Given the description of an element on the screen output the (x, y) to click on. 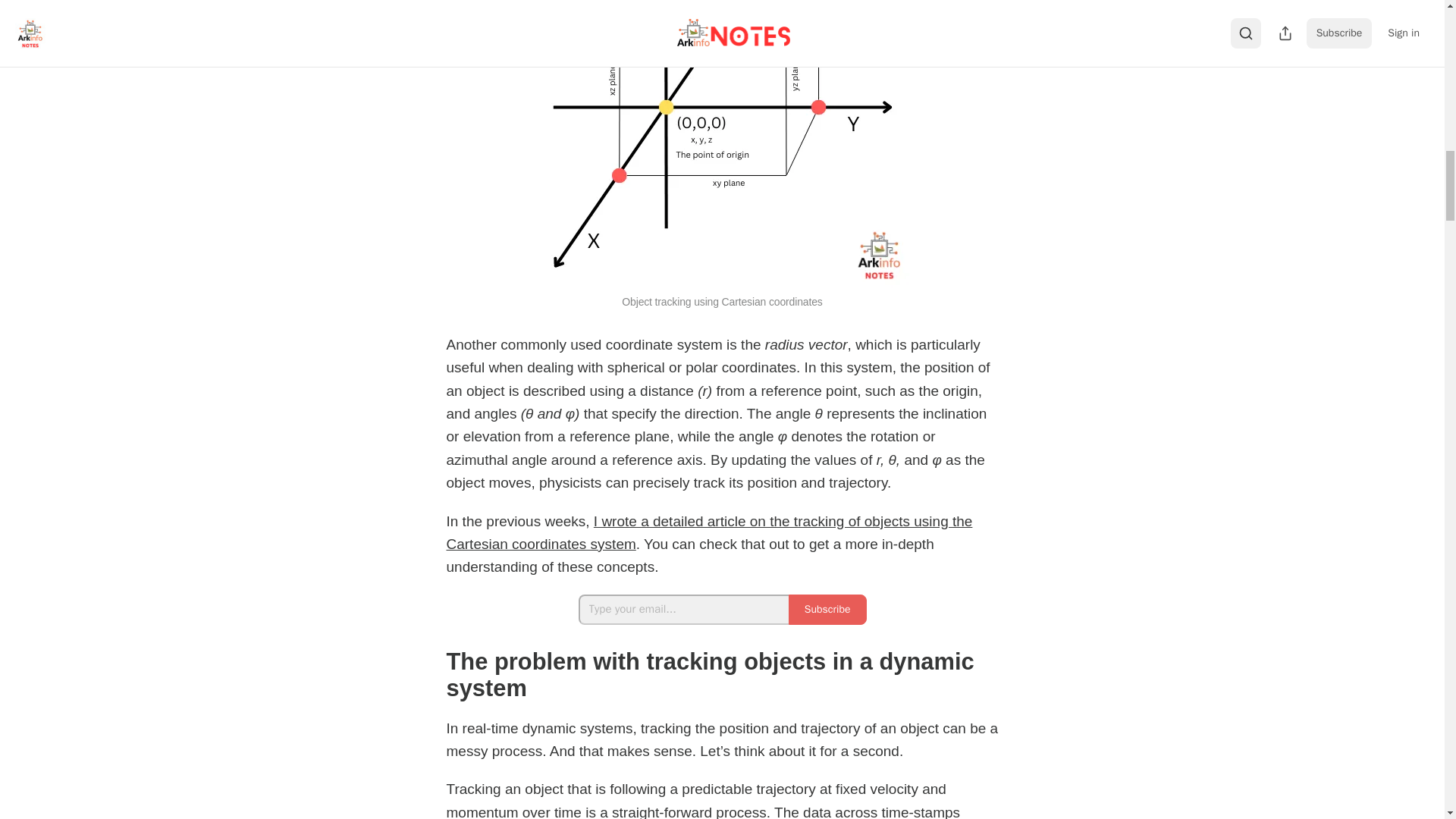
Subscribe (827, 609)
